Given the description of an element on the screen output the (x, y) to click on. 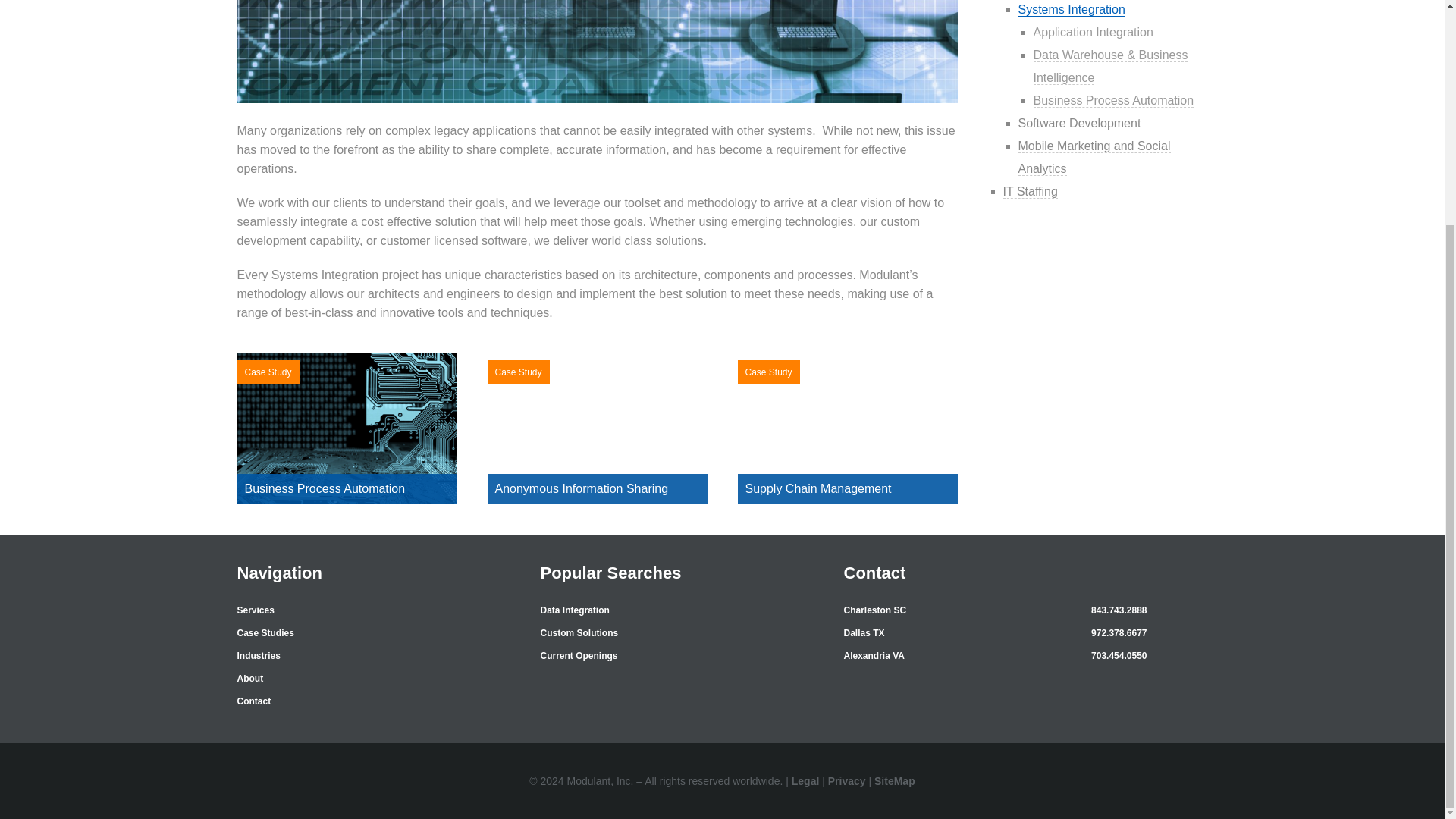
IT Staffing (1030, 192)
Software Development (1078, 123)
Systems Integration (1070, 9)
Application Integration (1092, 32)
Mobile Marketing and Social Analytics (1093, 157)
Business Process Automation (1112, 100)
